Given the description of an element on the screen output the (x, y) to click on. 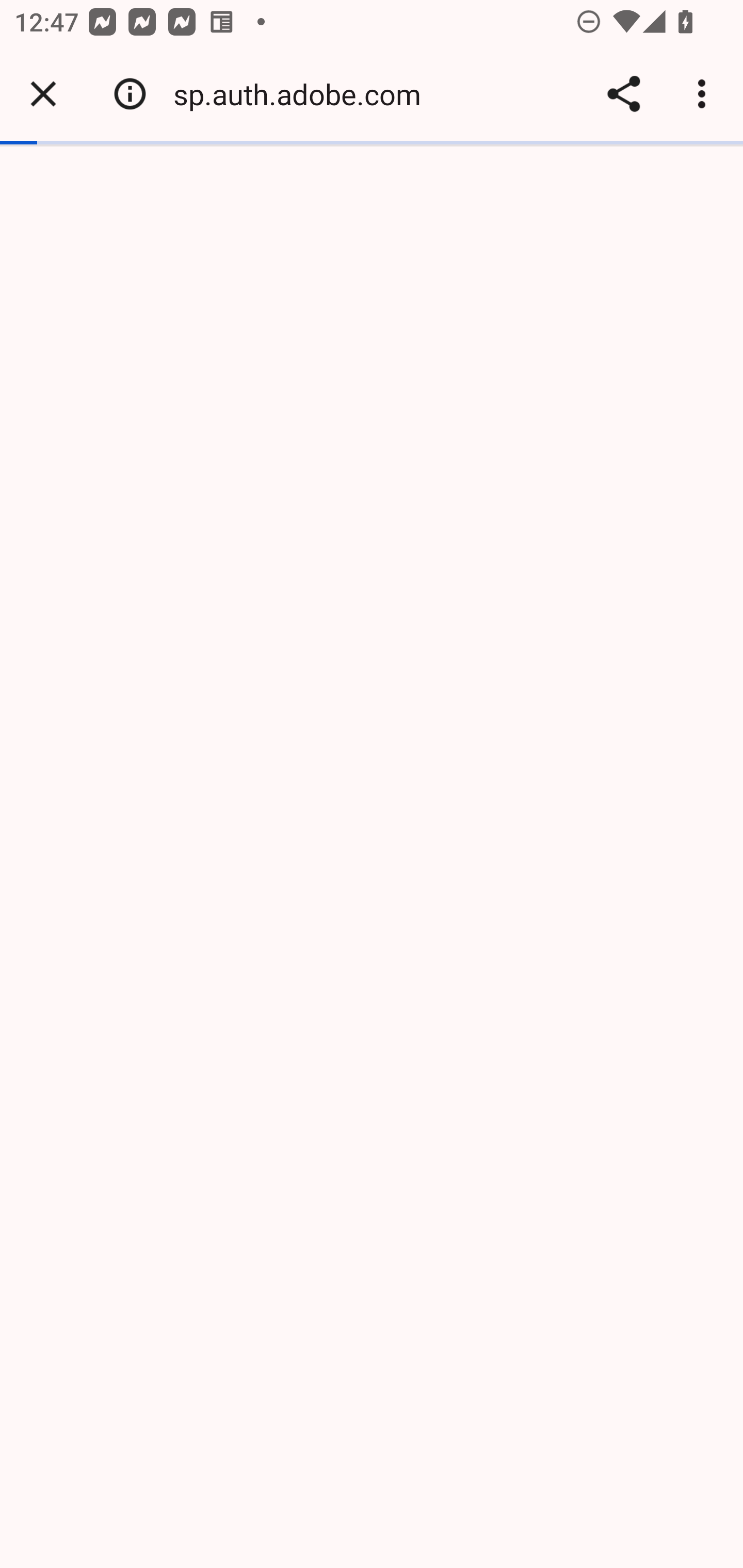
Close tab (43, 93)
Share (623, 93)
Customize and control Google Chrome (705, 93)
Your connection to this site is not secure (129, 93)
sp.auth.adobe.com (304, 93)
